Given the description of an element on the screen output the (x, y) to click on. 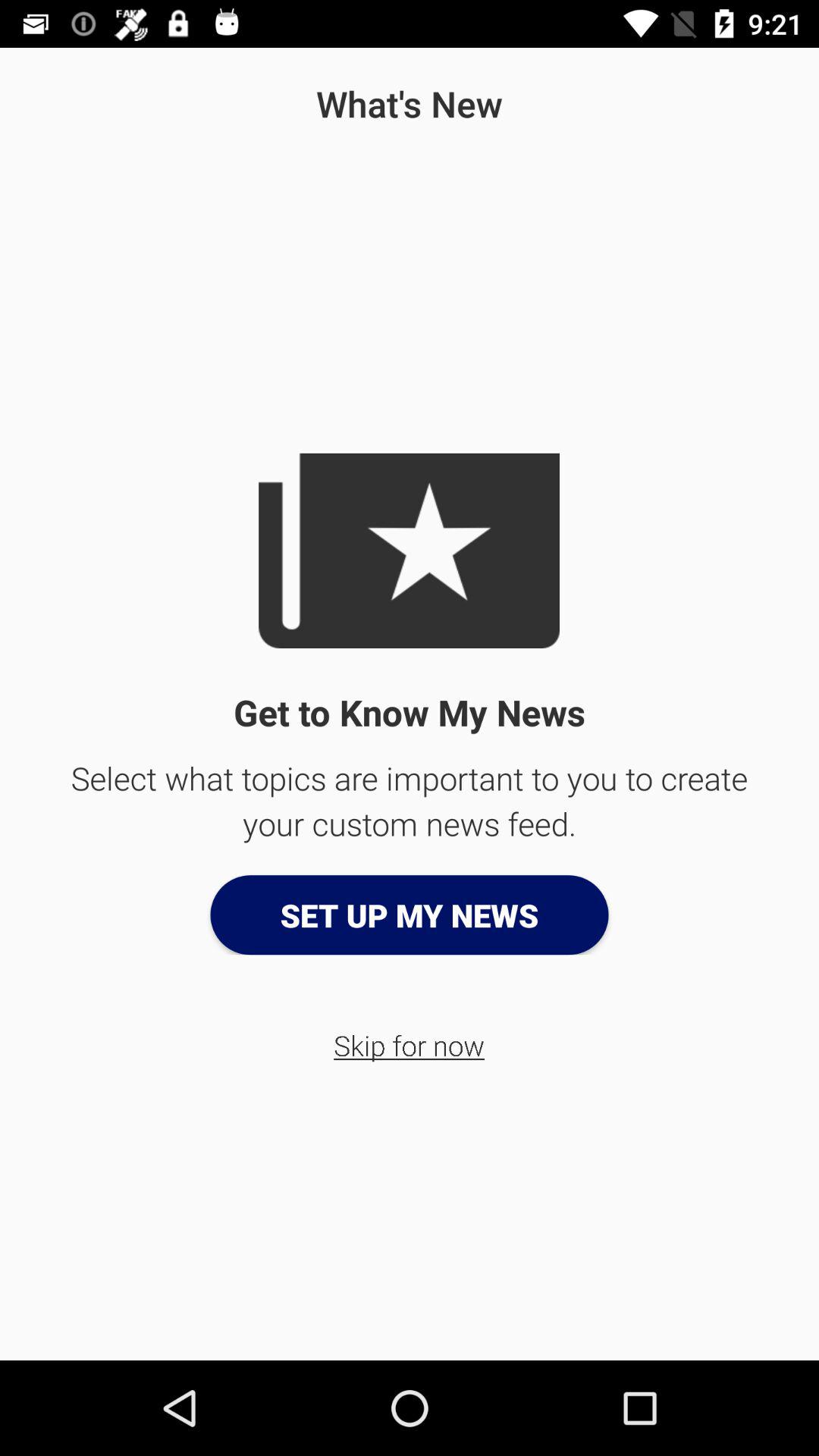
open the set up my (409, 914)
